Given the description of an element on the screen output the (x, y) to click on. 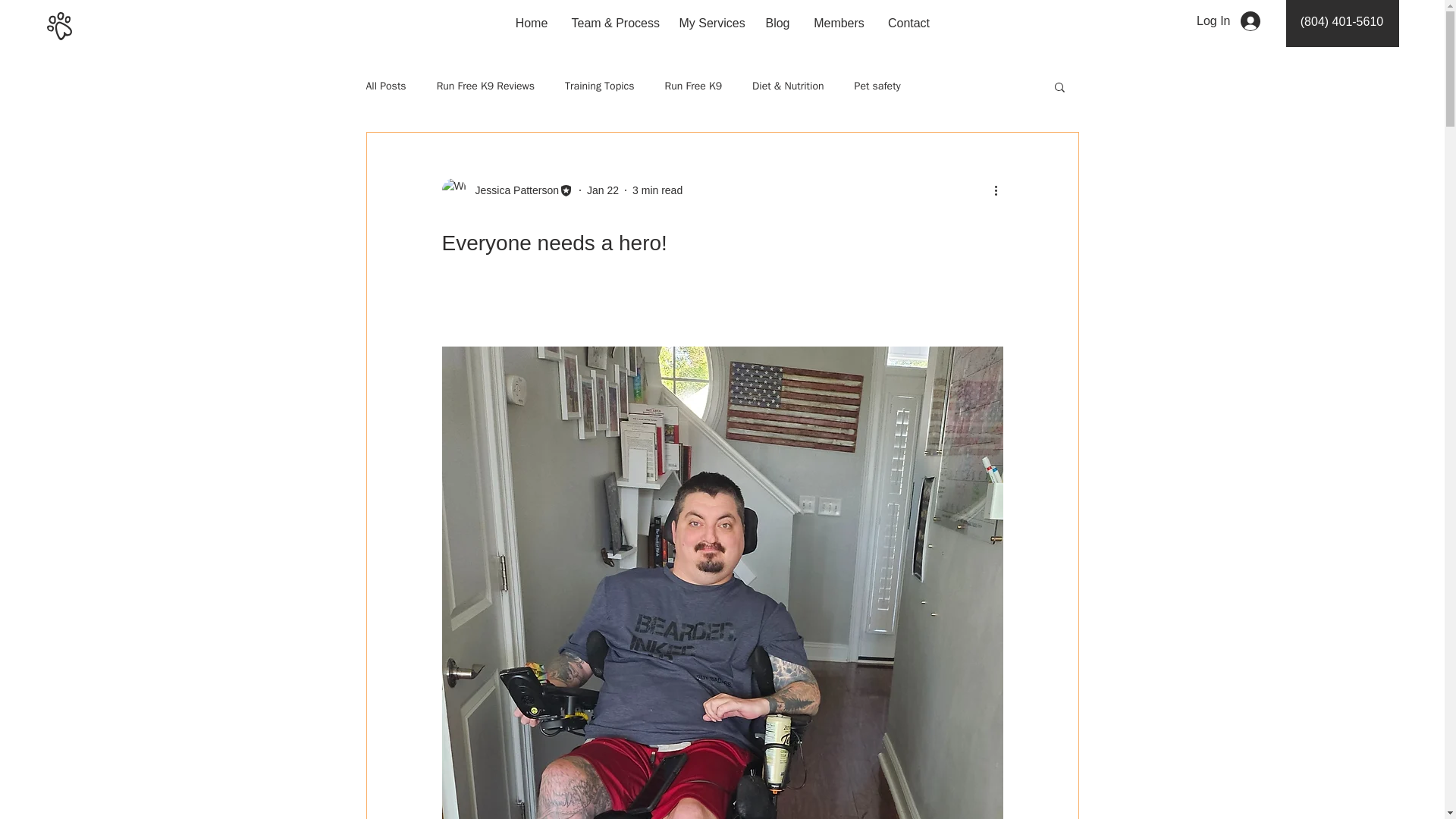
Run Free K9 Reviews (485, 86)
Blog (778, 23)
Members (839, 23)
Contact (909, 23)
Jan 22 (602, 189)
Home (531, 23)
My Services (709, 23)
All Posts (385, 86)
Pet safety (877, 86)
Training Topics (598, 86)
